Given the description of an element on the screen output the (x, y) to click on. 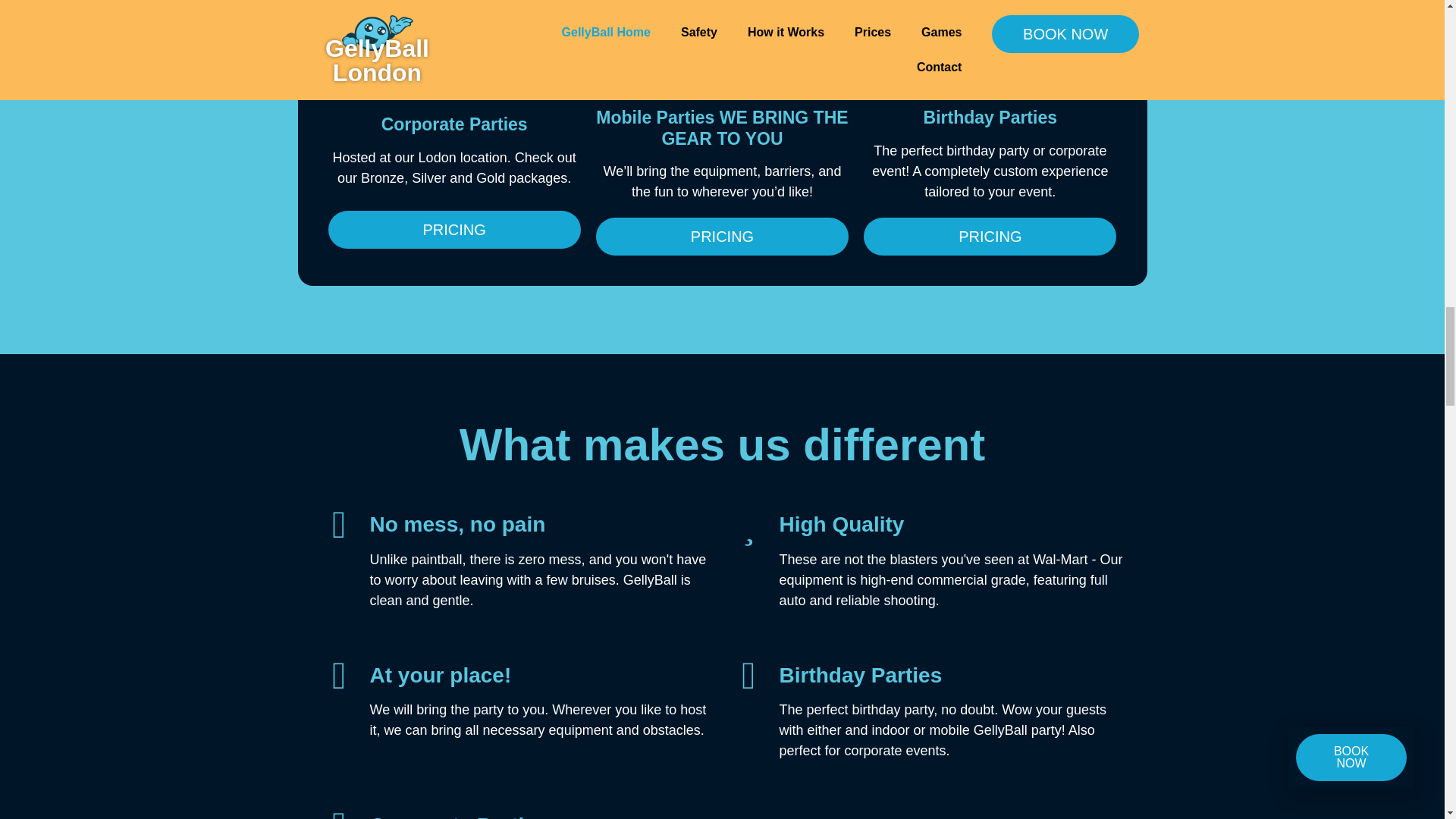
PRICING (721, 236)
PRICING (989, 236)
PRICING (453, 229)
